Given the description of an element on the screen output the (x, y) to click on. 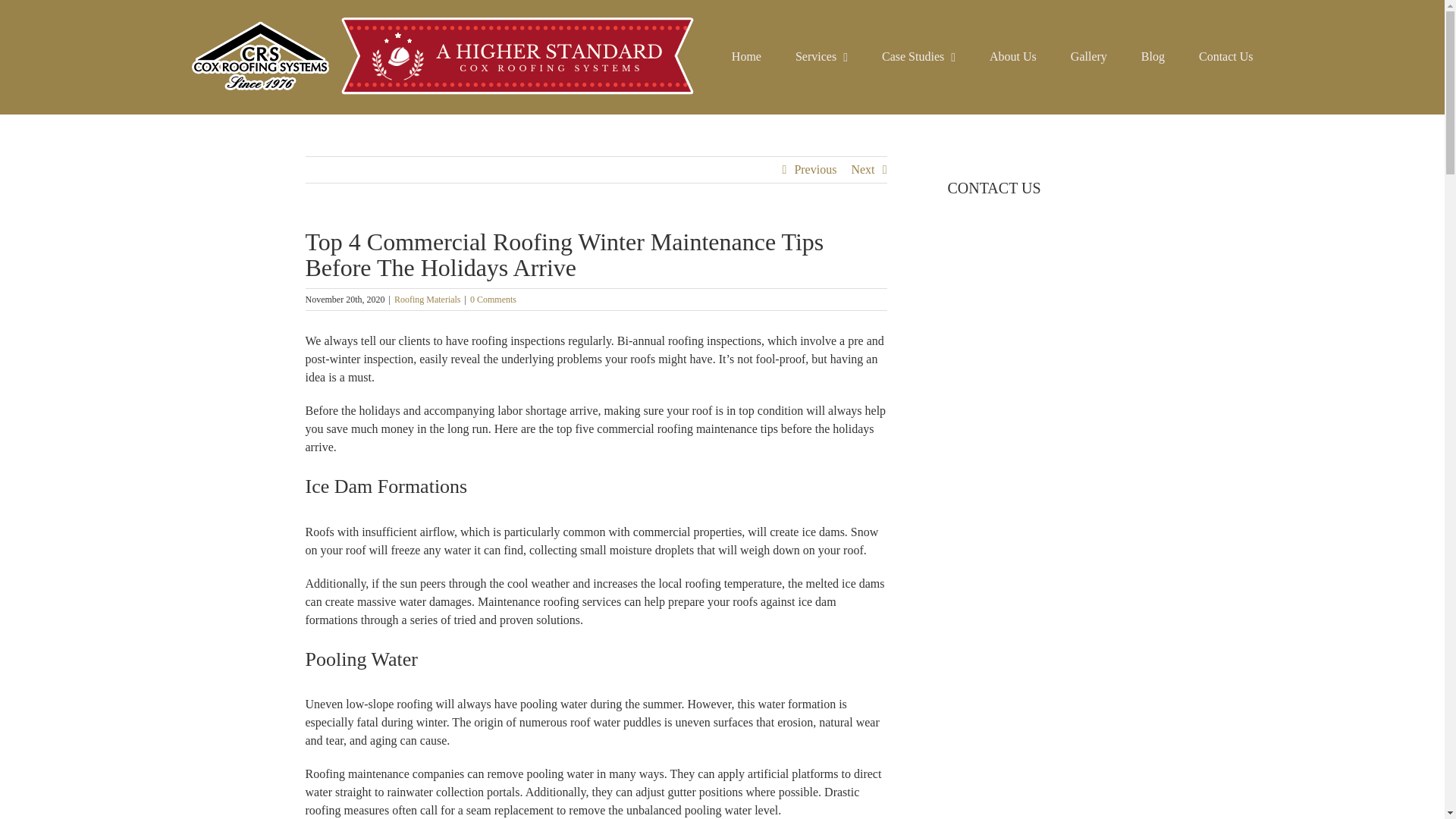
Previous (814, 169)
Case Studies (918, 56)
Contact Us (1225, 56)
Services (820, 56)
Home (746, 56)
About Us (1013, 56)
Roofing Materials (427, 299)
Next (862, 169)
Blog (1152, 56)
Gallery (1088, 56)
0 Comments (493, 299)
